Given the description of an element on the screen output the (x, y) to click on. 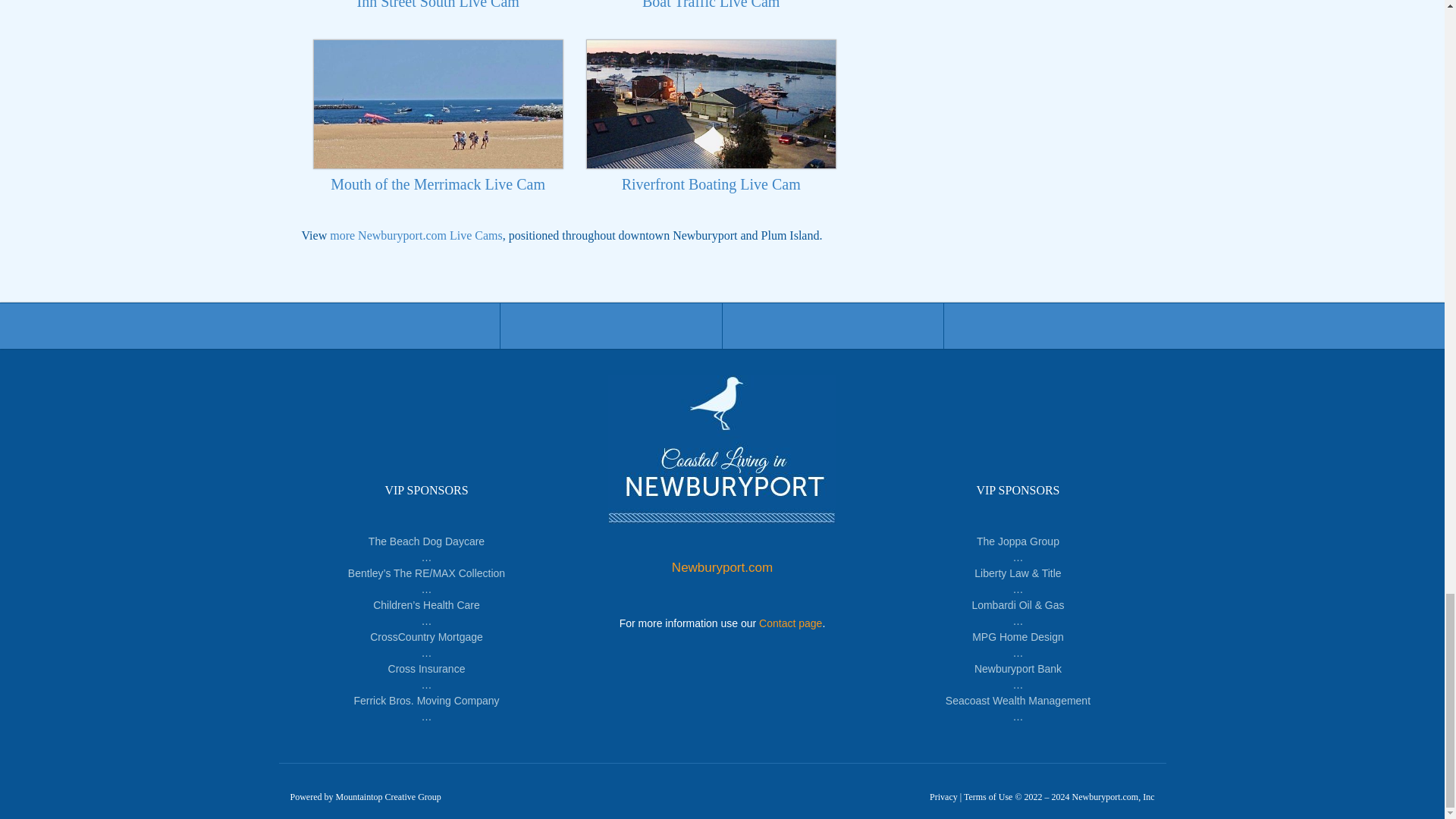
Newburyport Live Cams (416, 235)
